Given the description of an element on the screen output the (x, y) to click on. 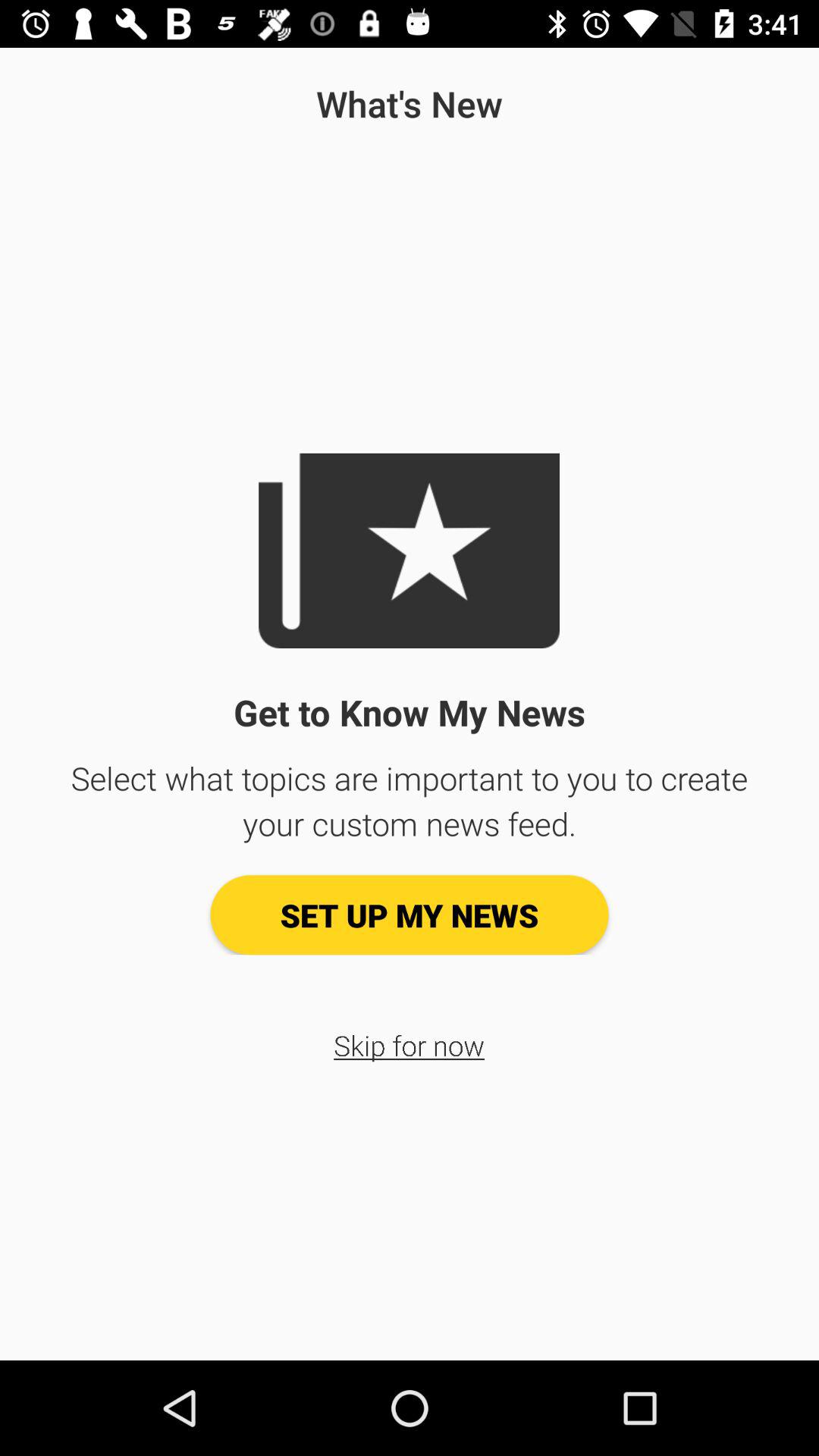
launch the skip for now icon (409, 1044)
